Given the description of an element on the screen output the (x, y) to click on. 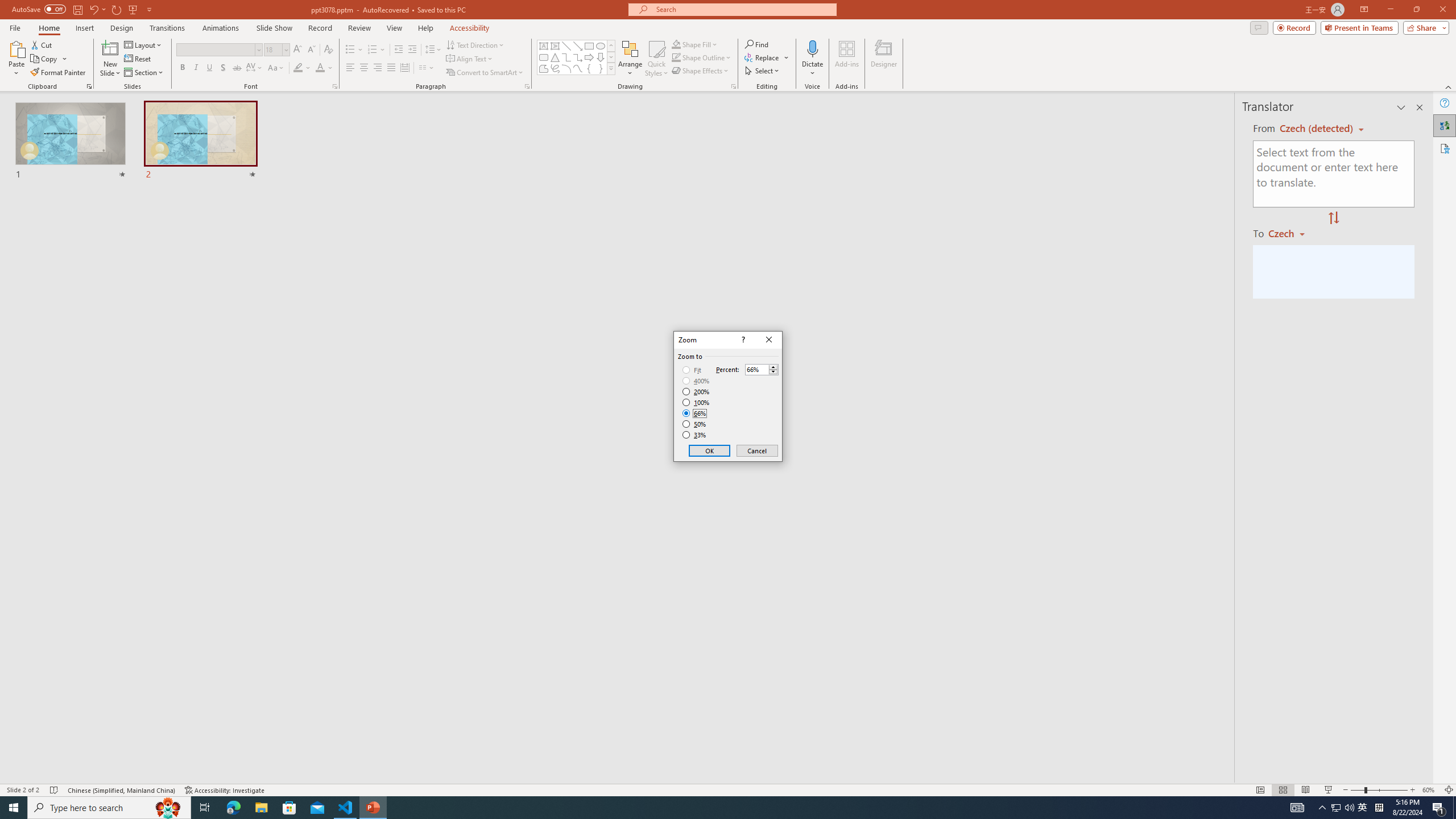
66% (694, 412)
